Given the description of an element on the screen output the (x, y) to click on. 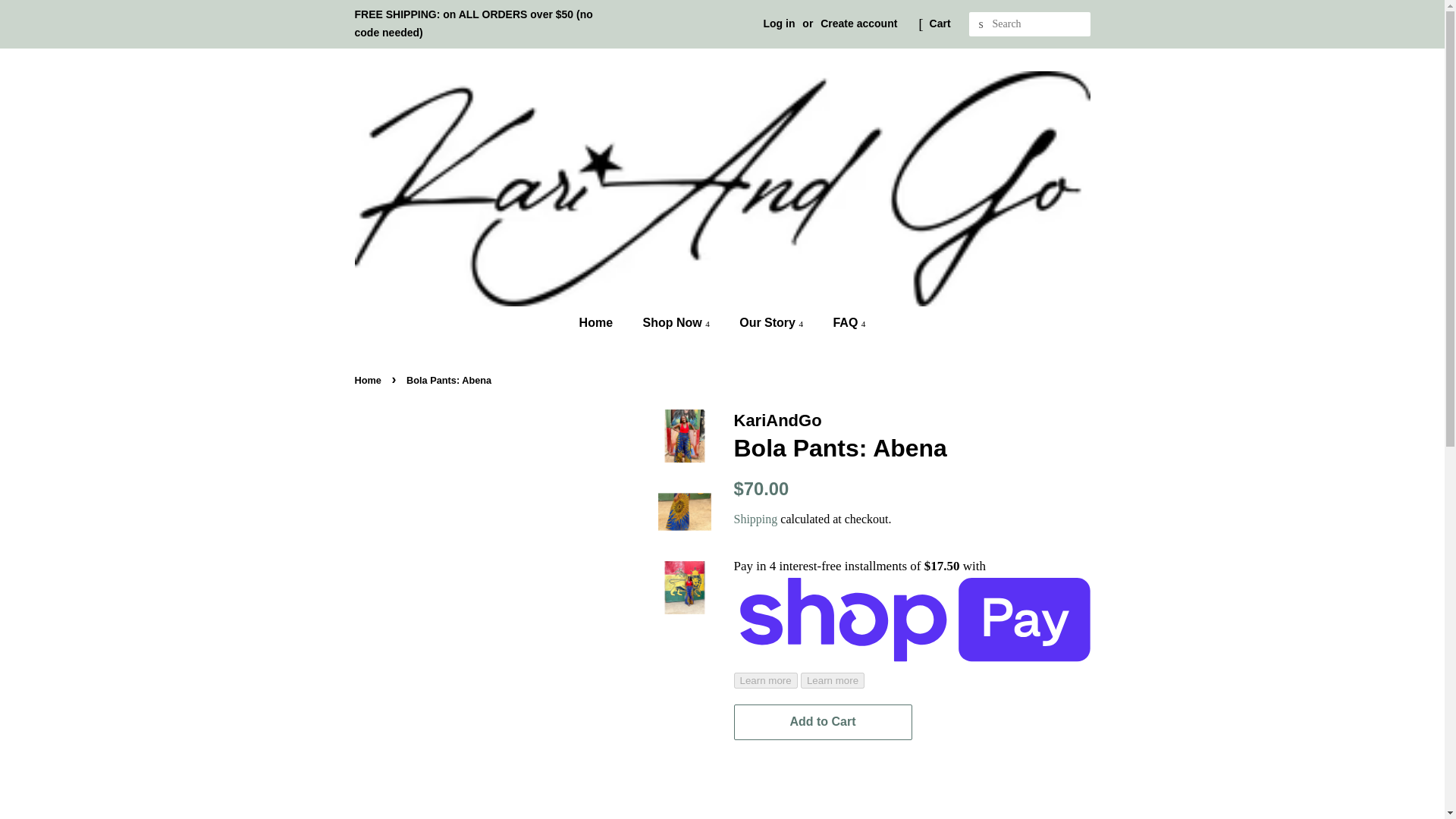
Cart (940, 24)
Log in (778, 23)
Search (980, 24)
Create account (858, 23)
Shop Now (676, 322)
Home (603, 322)
Back to the frontpage (370, 379)
